Given the description of an element on the screen output the (x, y) to click on. 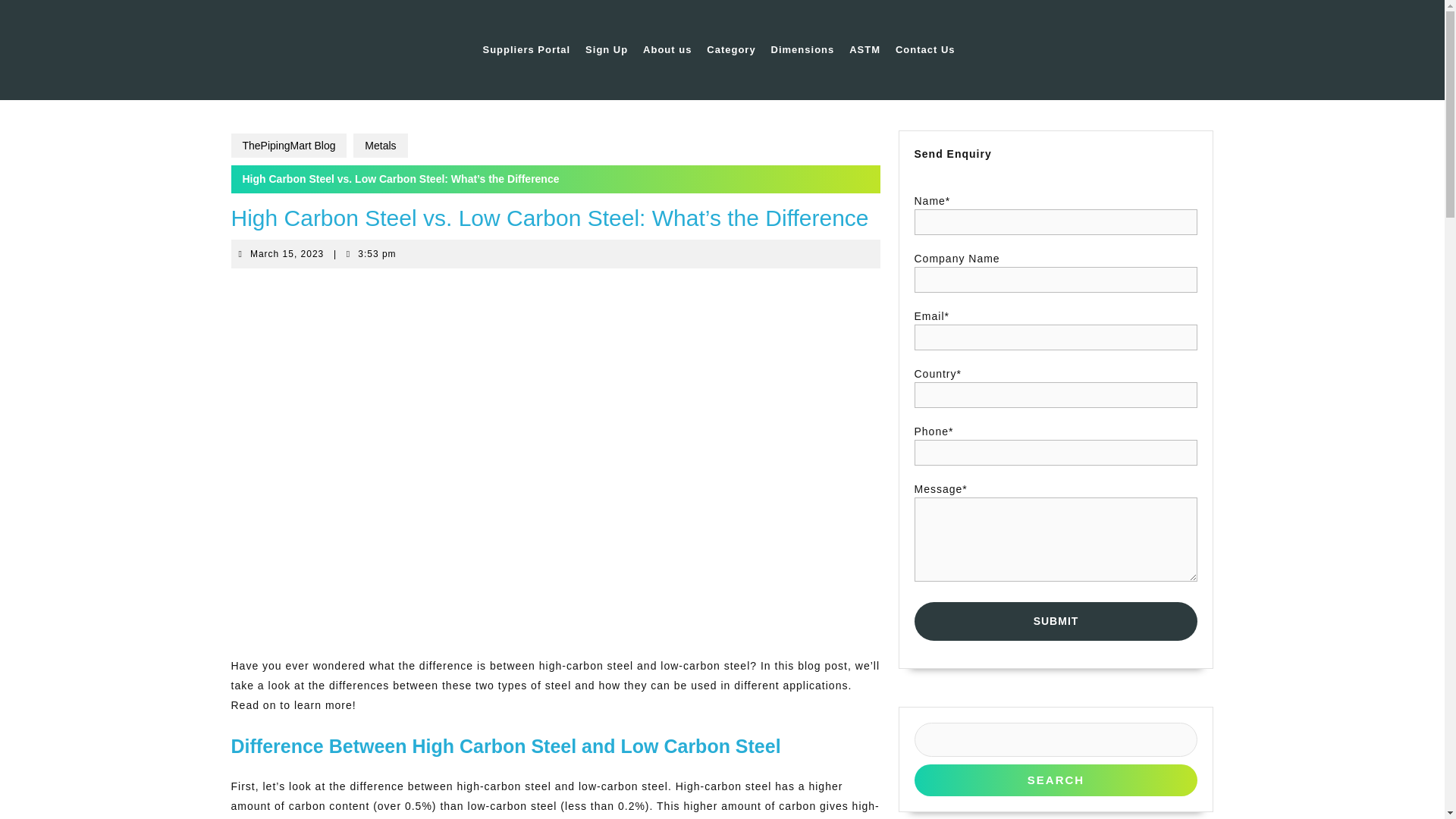
Submit (1056, 620)
Category (730, 49)
Suppliers Portal (526, 49)
Contact Us (924, 49)
ASTM (864, 49)
Dimensions (803, 49)
Submit (1056, 620)
Sign Up (606, 49)
About us (667, 49)
SEARCH (1056, 780)
Metals (380, 145)
ThePipingMart Blog (286, 253)
